Given the description of an element on the screen output the (x, y) to click on. 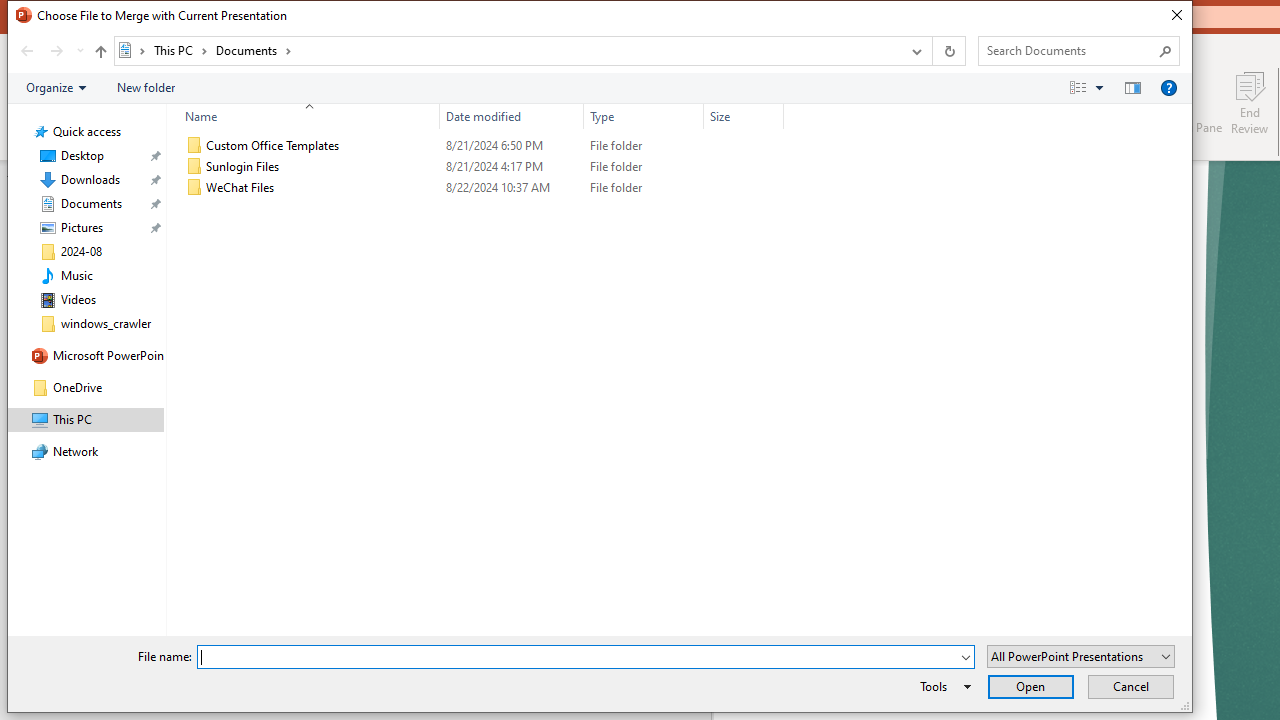
View Slider (1099, 87)
Preview pane (1132, 87)
Files of type: (1080, 656)
Documents (253, 50)
Search Box (1069, 50)
Recent locations (79, 51)
Class: UIImage (194, 187)
Up band toolbar (100, 54)
End Review (1249, 102)
Back (Alt + Left Arrow) (26, 51)
&Help (1168, 87)
Forward (Alt + Right Arrow) (56, 51)
Custom Office Templates (480, 145)
Filter dropdown (775, 115)
